Given the description of an element on the screen output the (x, y) to click on. 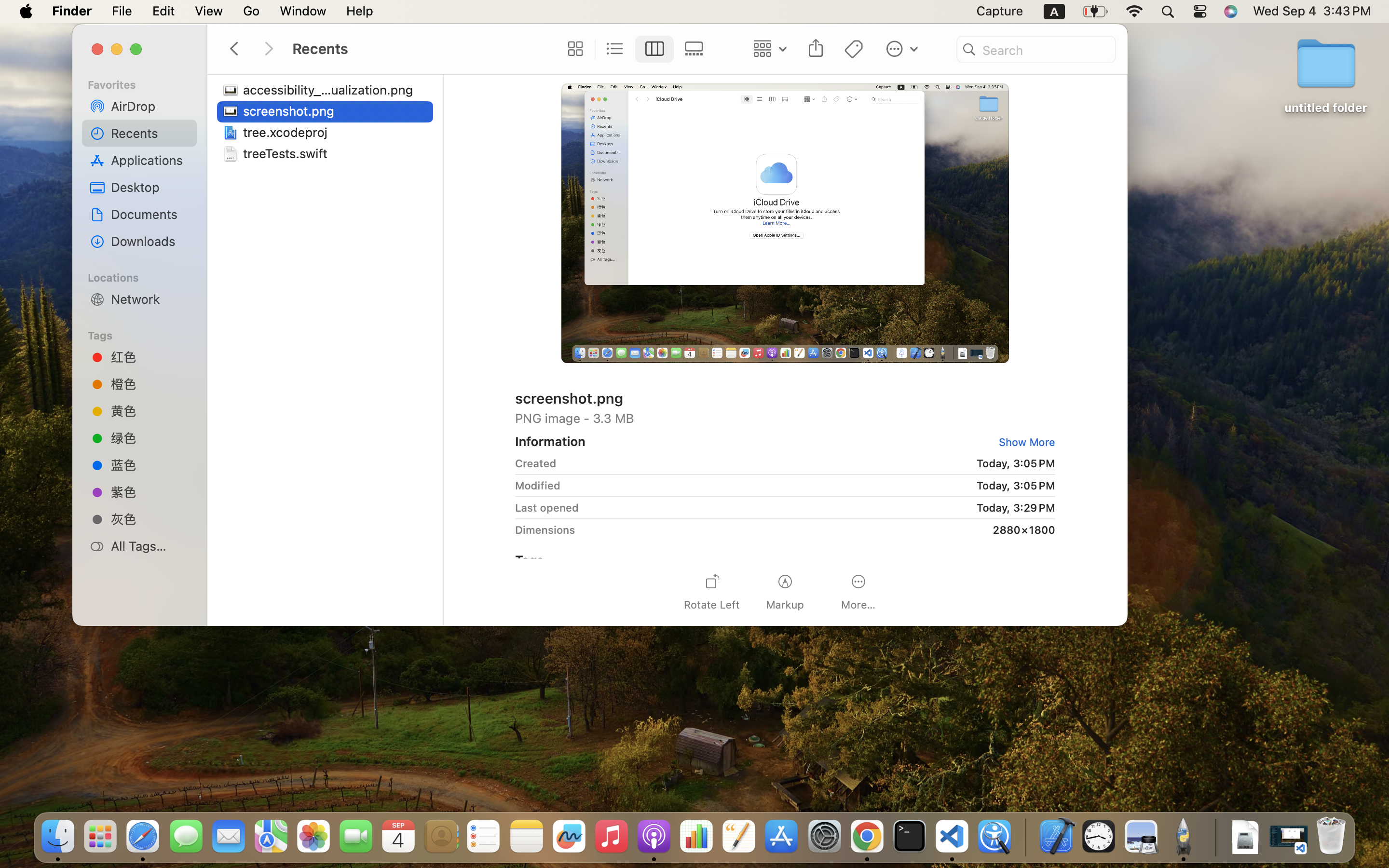
绿色 Element type: AXStaticText (149, 437)
Information Element type: AXStaticText (550, 440)
1 Element type: AXRadioButton (654, 48)
Documents Element type: AXStaticText (149, 213)
灰色 Element type: AXStaticText (149, 518)
